Given the description of an element on the screen output the (x, y) to click on. 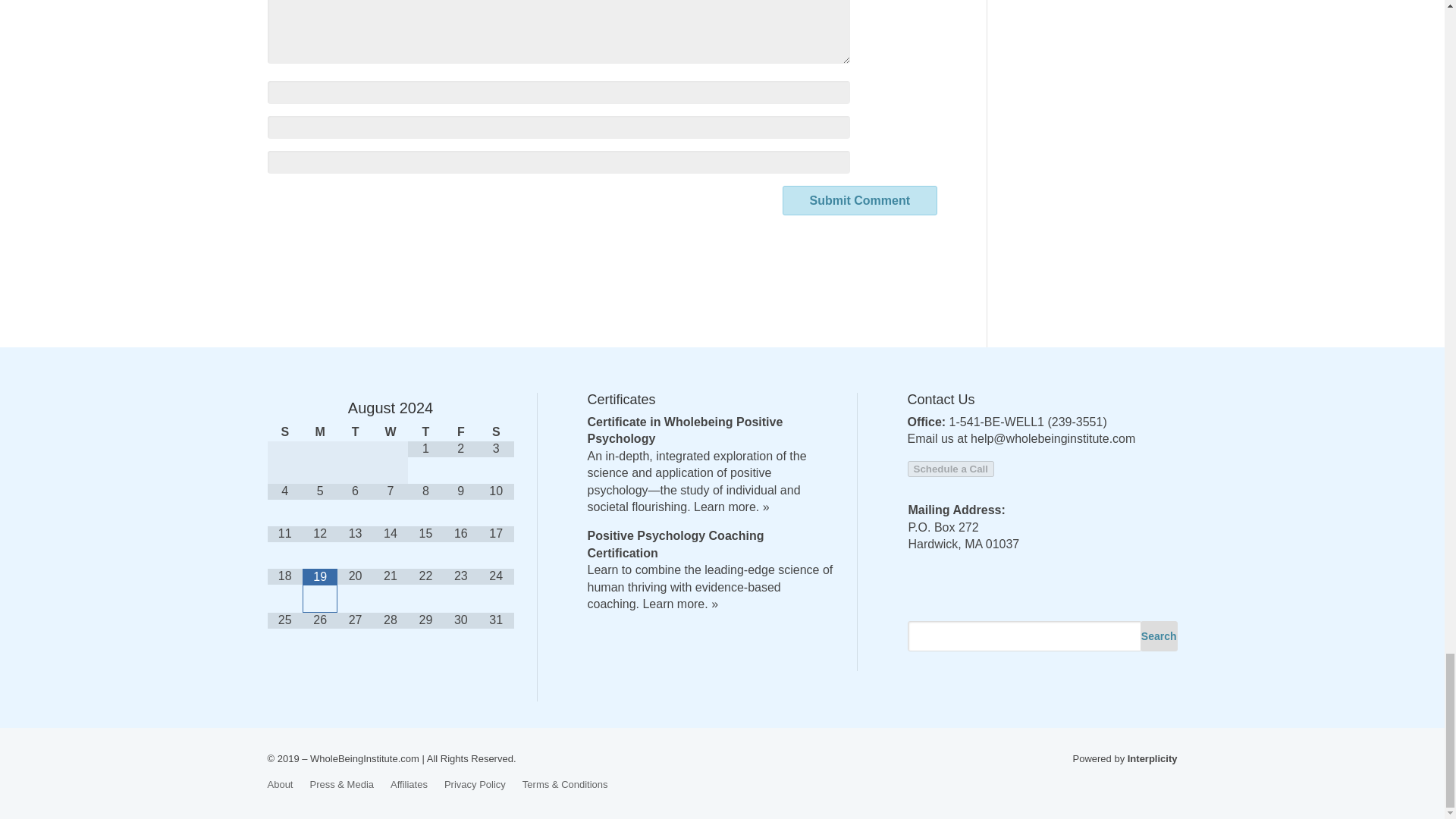
Submit Comment (860, 200)
Certificate in Wholebeing Positive Psychology (684, 430)
Submit Comment (860, 200)
Search (1158, 635)
Search (1158, 635)
Schedule a Call (950, 468)
Schedule a Call (950, 468)
Positive Psychology Coaching Certification (674, 543)
